Given the description of an element on the screen output the (x, y) to click on. 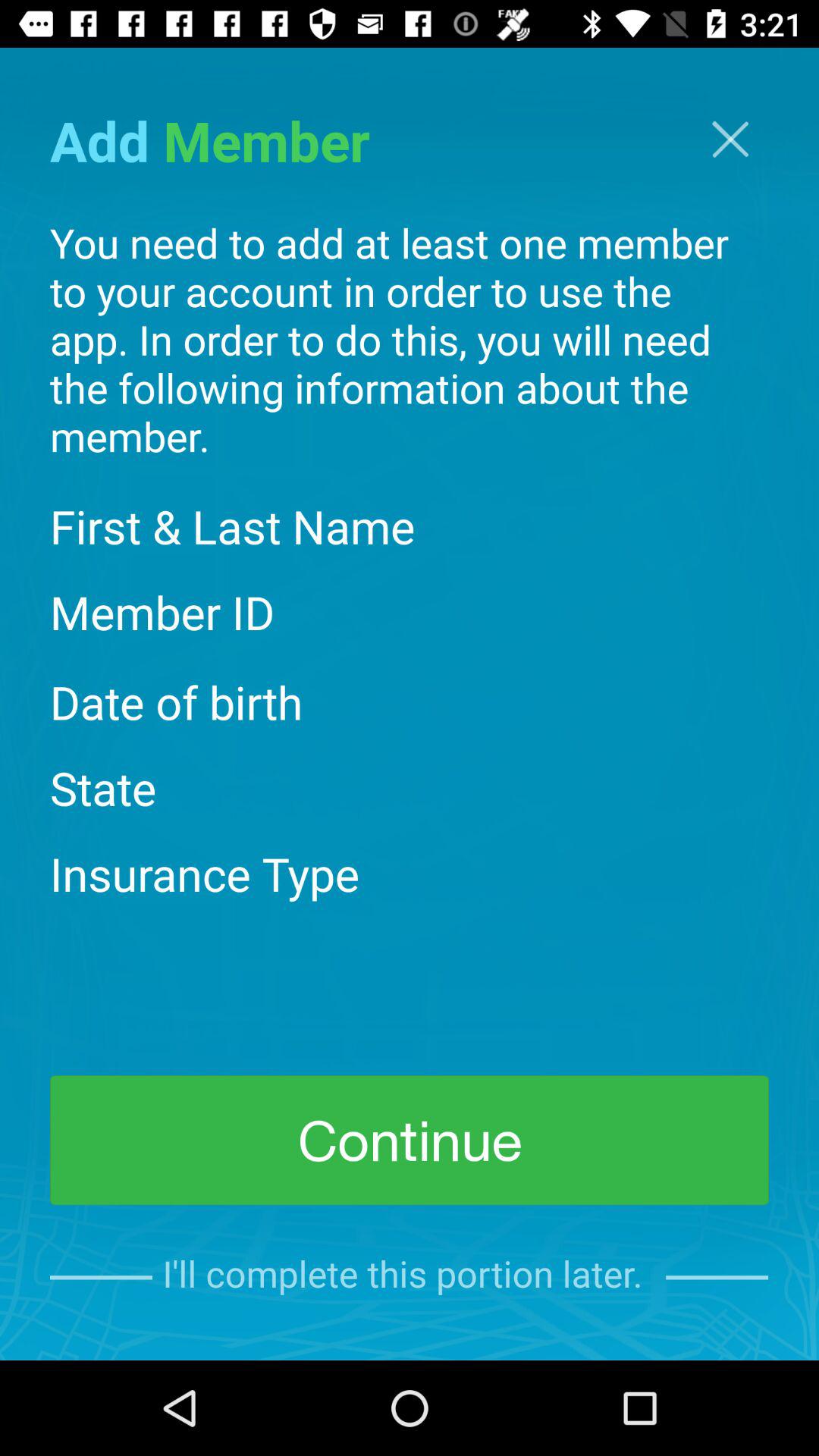
close (730, 139)
